Given the description of an element on the screen output the (x, y) to click on. 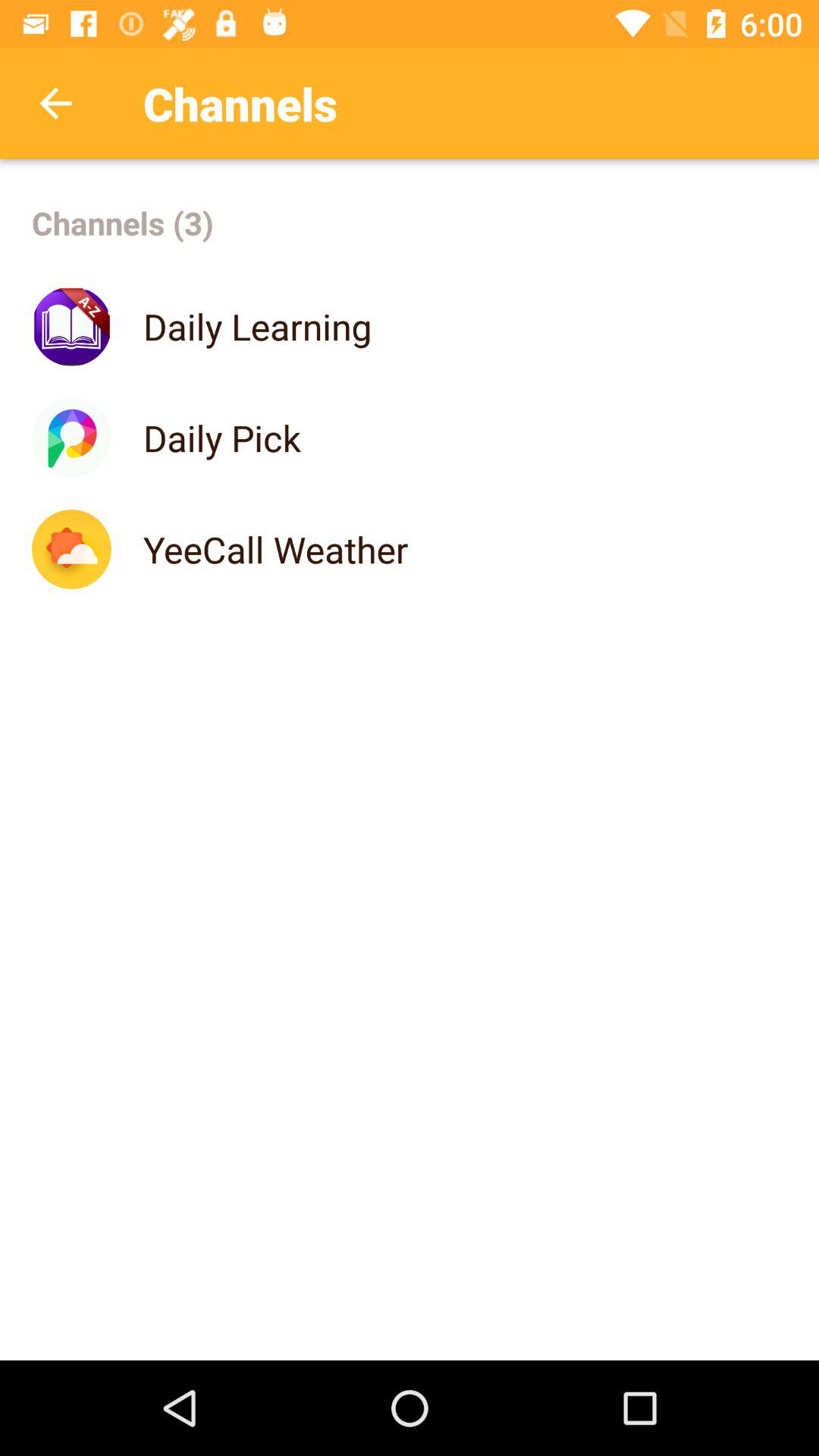
launch icon next to the channels (55, 103)
